Given the description of an element on the screen output the (x, y) to click on. 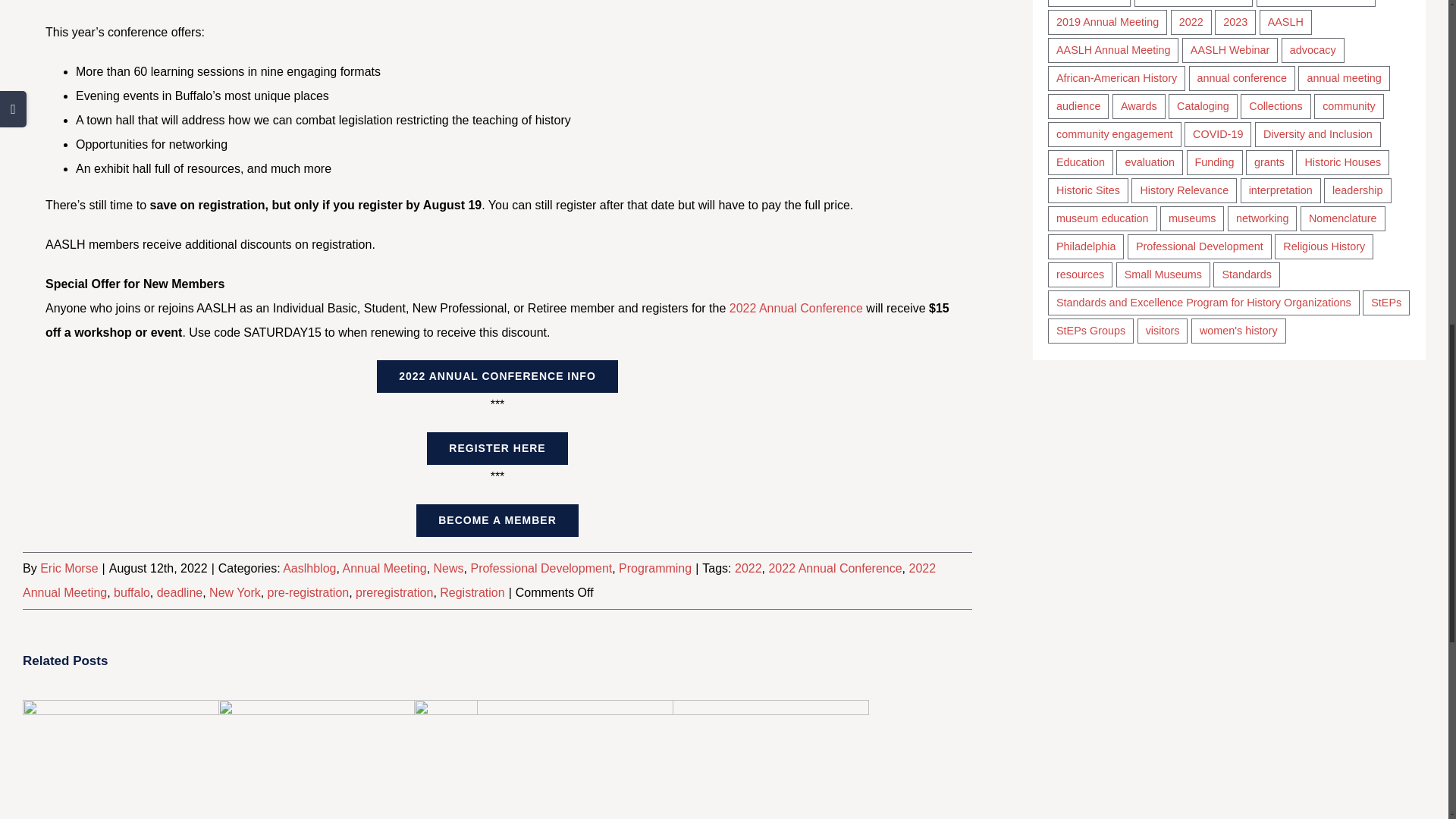
Posts by Eric Morse (68, 567)
